Given the description of an element on the screen output the (x, y) to click on. 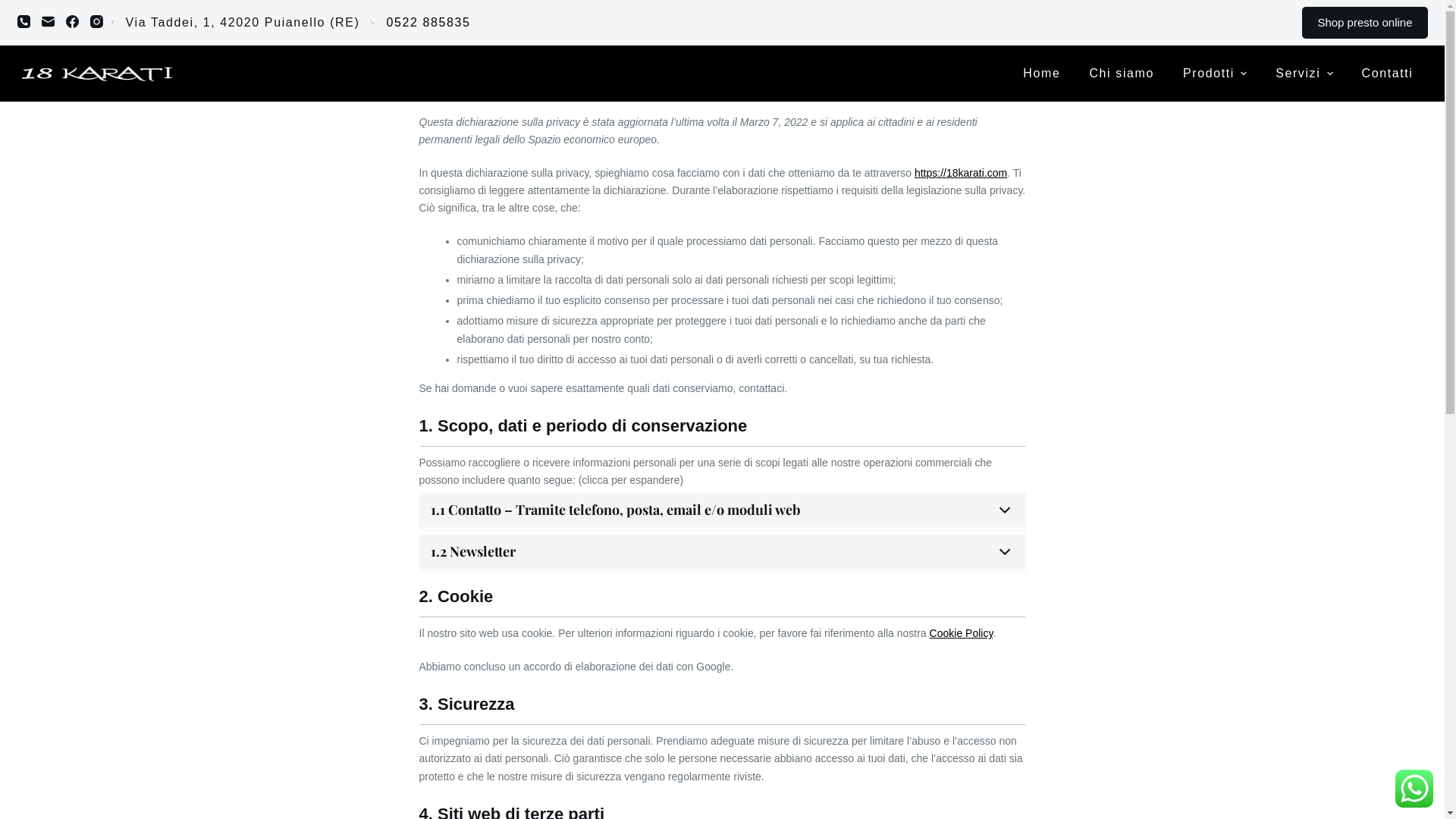
Shop presto online Element type: text (1364, 22)
Home Element type: text (1041, 73)
Skip to content Element type: text (15, 7)
Chi siamo Element type: text (1121, 73)
Servizi Element type: text (1303, 73)
Cookie Policy Element type: text (961, 633)
0522 885835 Element type: text (427, 21)
Contatti Element type: text (1387, 73)
https://18karati.com Element type: text (960, 172)
Prodotti Element type: text (1214, 73)
